Given the description of an element on the screen output the (x, y) to click on. 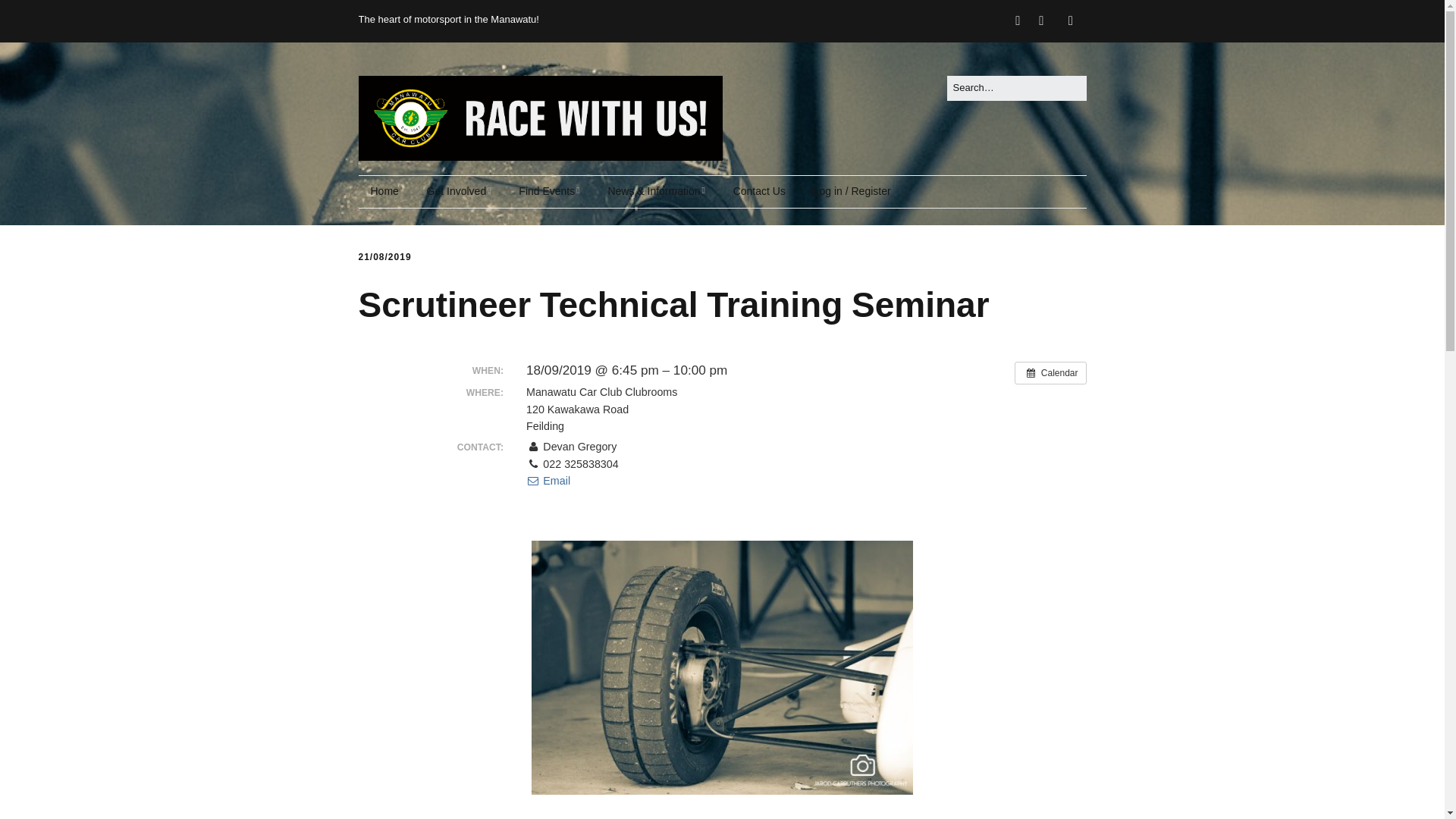
Get Involved (458, 192)
Contact Us (758, 192)
Calendar (1050, 372)
Press Enter to submit your search (1016, 88)
View all events (1050, 372)
Search (29, 15)
Find Events (548, 192)
Home (384, 192)
Email (547, 480)
